Given the description of an element on the screen output the (x, y) to click on. 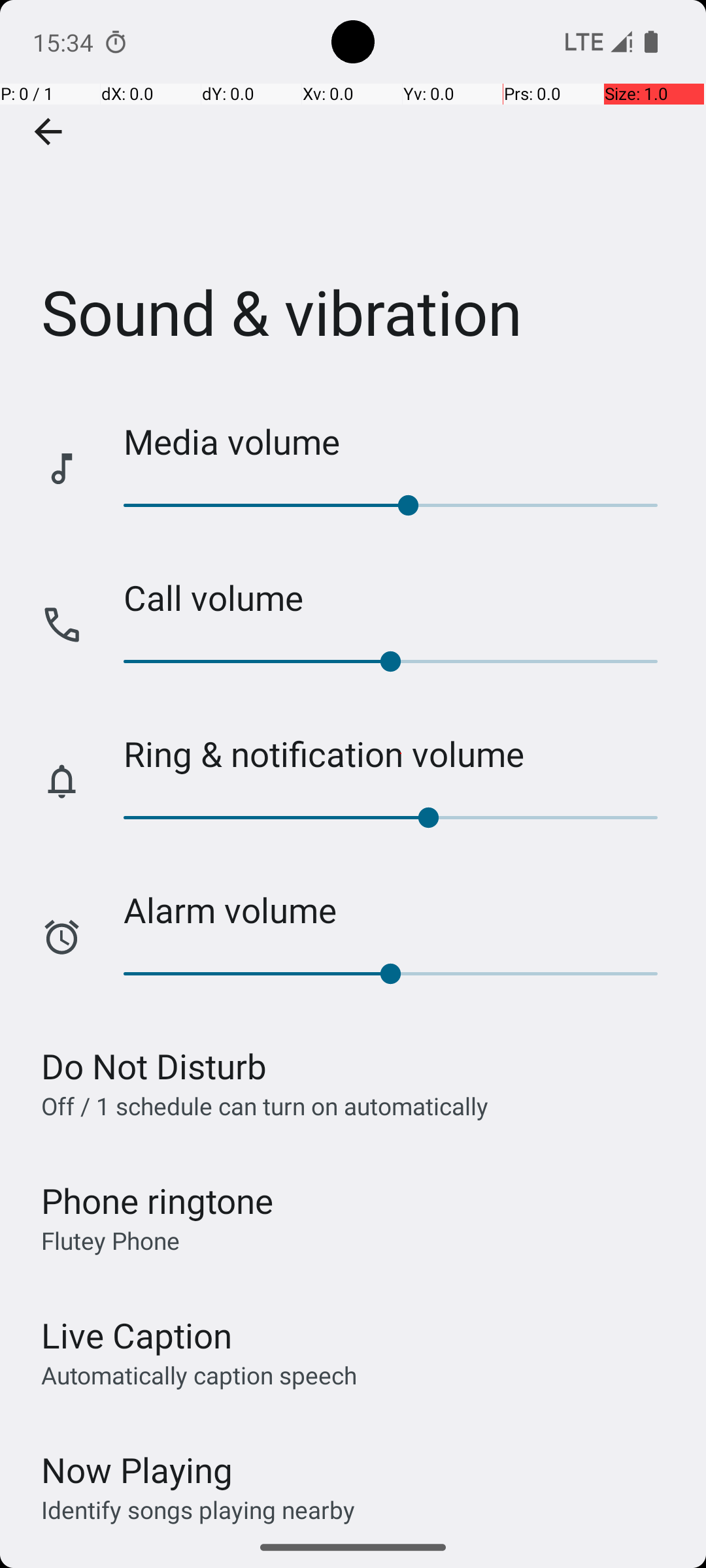
Off / 1 schedule can turn on automatically Element type: android.widget.TextView (264, 1105)
Now Playing Element type: android.widget.TextView (136, 1469)
Identify songs playing nearby Element type: android.widget.TextView (197, 1509)
